Given the description of an element on the screen output the (x, y) to click on. 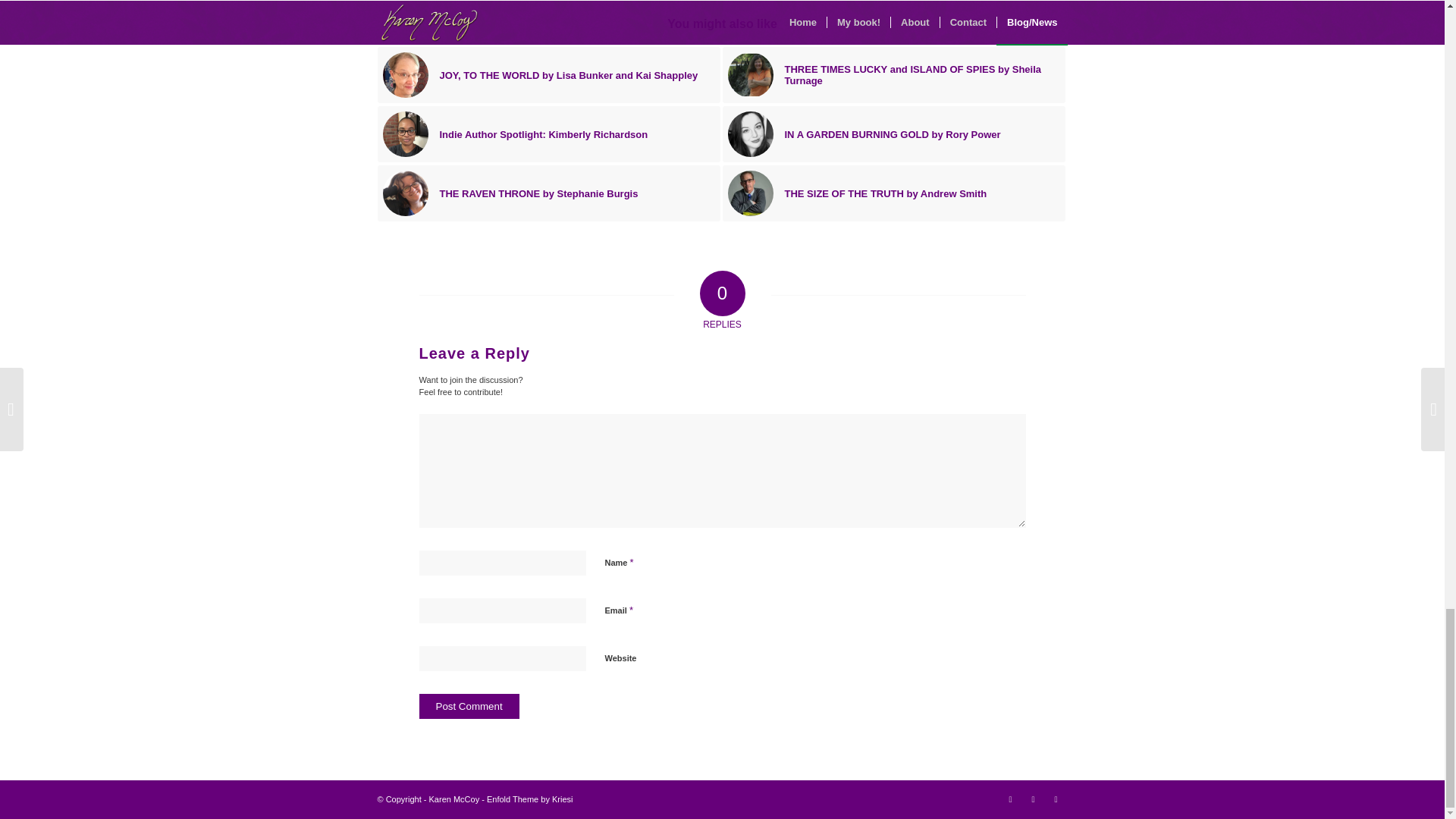
JOY, TO THE WORLD by Lisa Bunker and Kai Shappley (548, 74)
JOY, TO THE WORLD by Lisa Bunker and Kai Shappley (548, 74)
THREE TIMES LUCKY and ISLAND OF SPIES by Sheila Turnage (893, 74)
THE SIZE OF THE TRUTH by Andrew Smith (893, 193)
Indie Author Spotlight: Kimberly Richardson (548, 134)
THE RAVEN THRONE by Stephanie Burgis (548, 193)
Lisa Bunker (404, 74)
IN A GARDEN BURNING GOLD by Rory Power (893, 134)
THREE TIMES LUCKY and ISLAND OF SPIES by Sheila Turnage (893, 74)
Post Comment (468, 706)
